Given the description of an element on the screen output the (x, y) to click on. 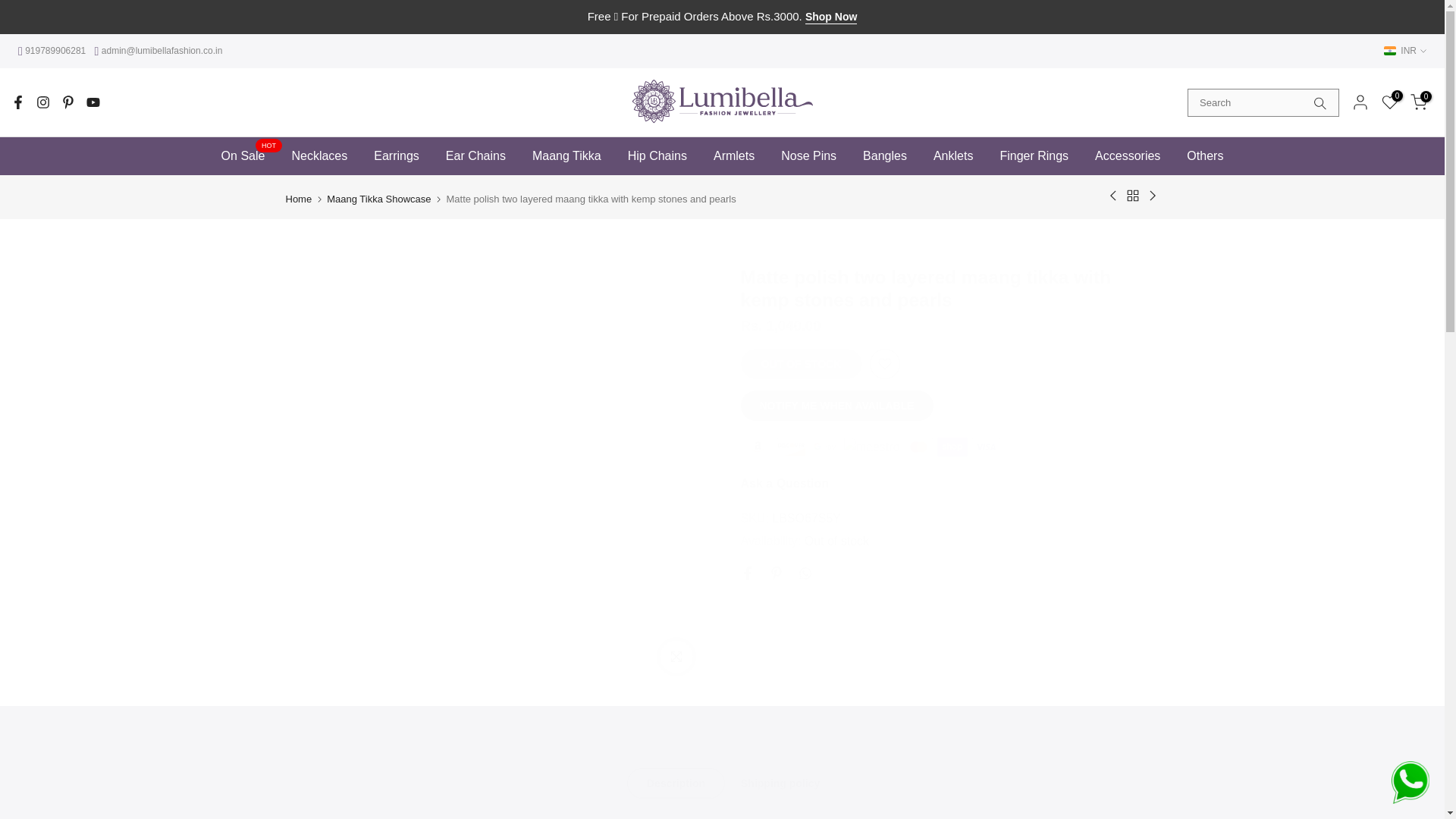
919789906281 (52, 50)
Skip to content (10, 7)
Share on WhatsApp (803, 572)
INR (1405, 50)
Shop Now (831, 16)
Share on Facebook (746, 572)
Share on Pinterest (775, 572)
